Given the description of an element on the screen output the (x, y) to click on. 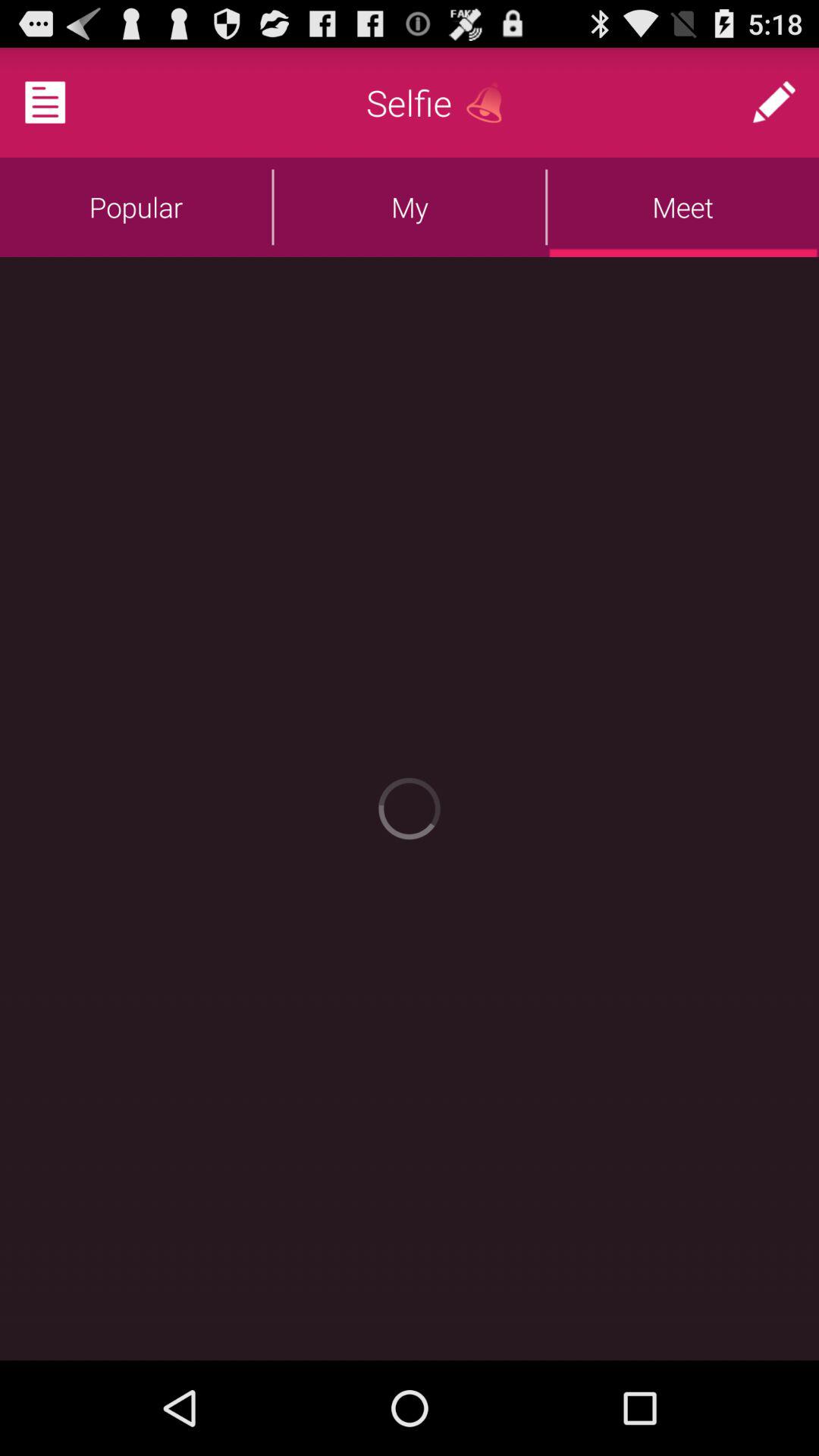
floders option (63, 102)
